Given the description of an element on the screen output the (x, y) to click on. 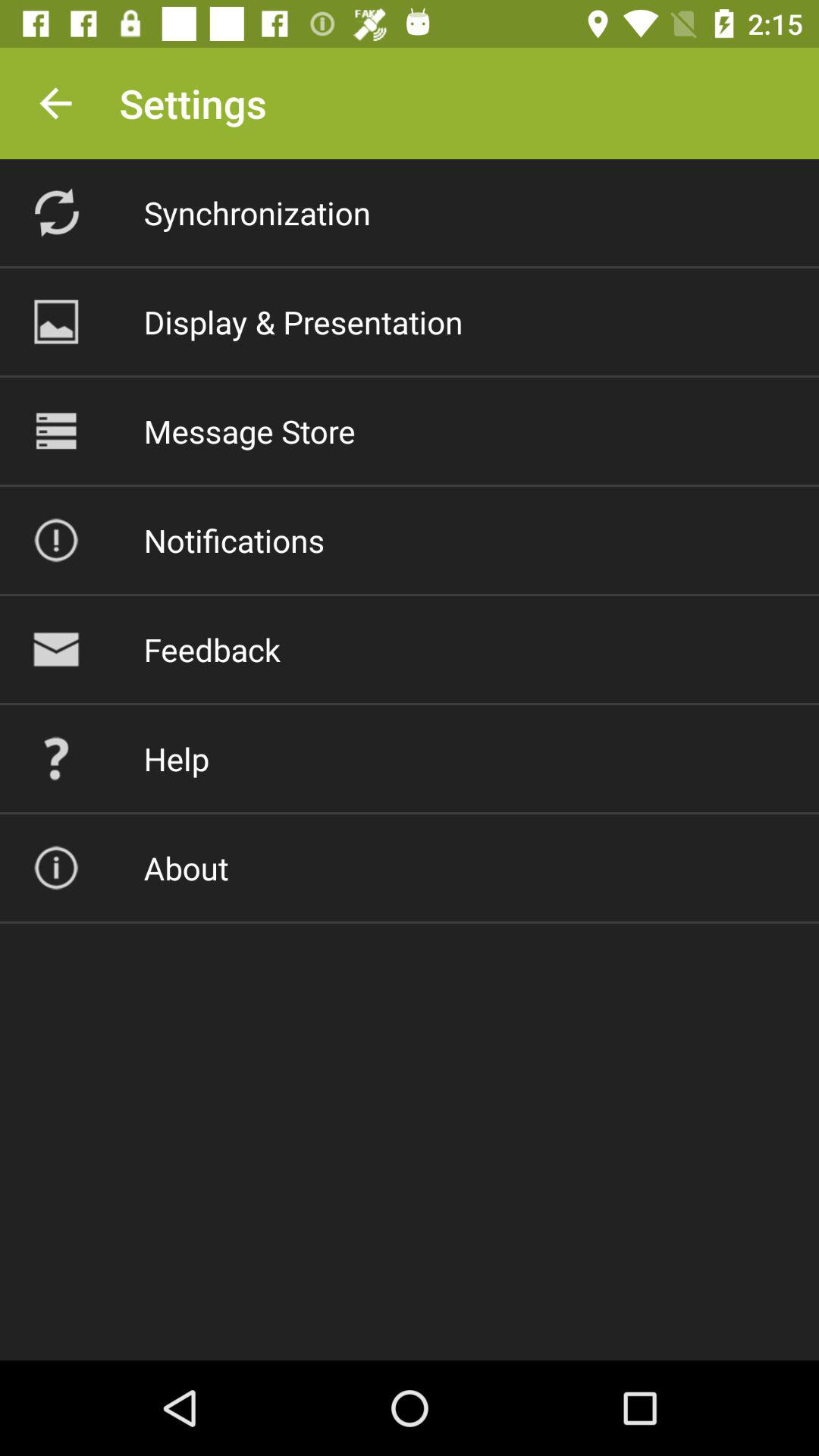
turn on the icon next to settings icon (55, 103)
